Given the description of an element on the screen output the (x, y) to click on. 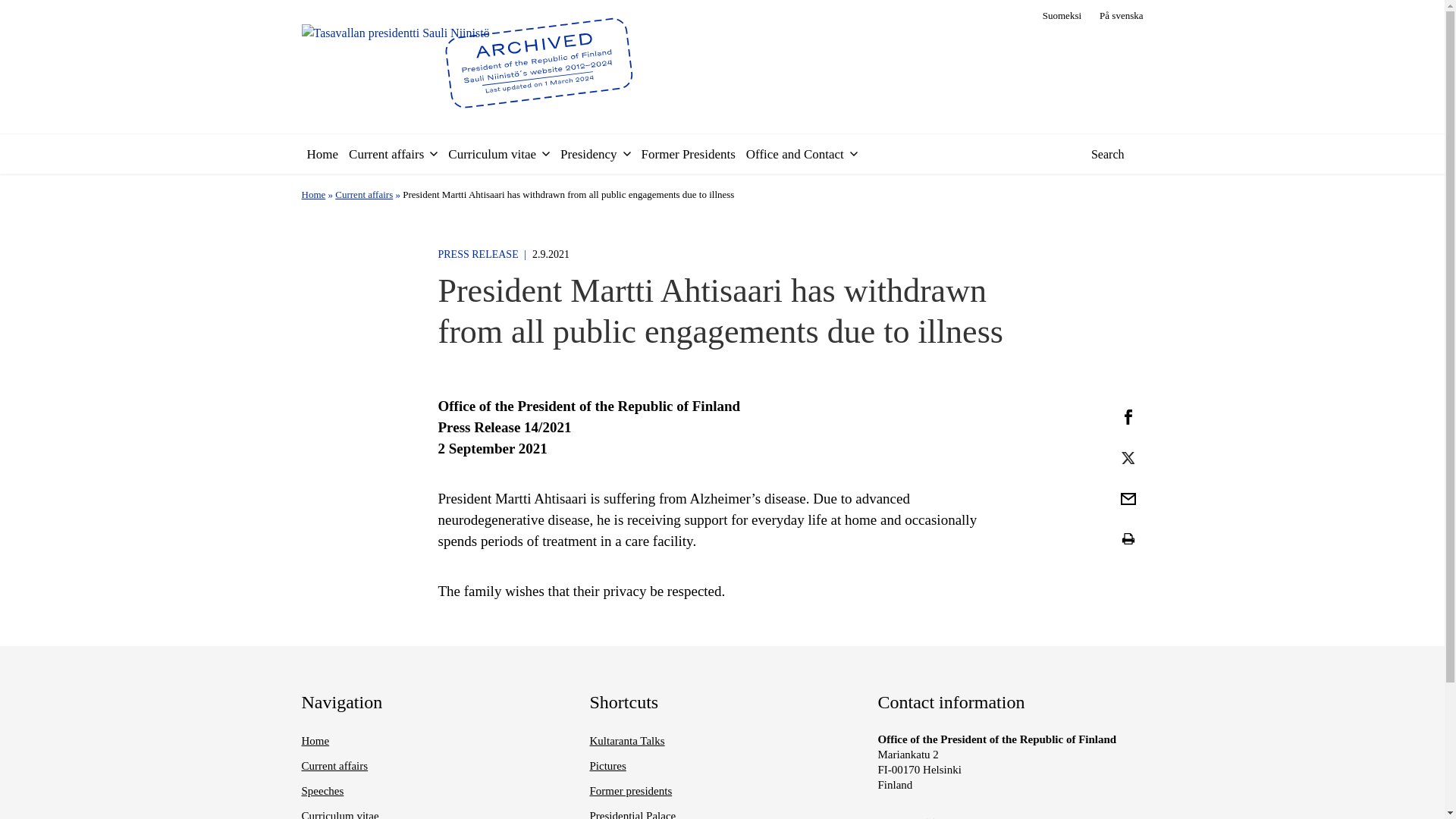
Home (321, 153)
Share by printing (1127, 538)
Curriculum vitae (491, 153)
2B71E001-4E7E-4F45-B49E-5CA1C20B2696 (1128, 458)
Presidency (588, 153)
Share on Facebook (1127, 415)
Share on X (1127, 456)
Current affairs (386, 153)
Suomeksi (1061, 15)
Share by Email (1127, 497)
